Given the description of an element on the screen output the (x, y) to click on. 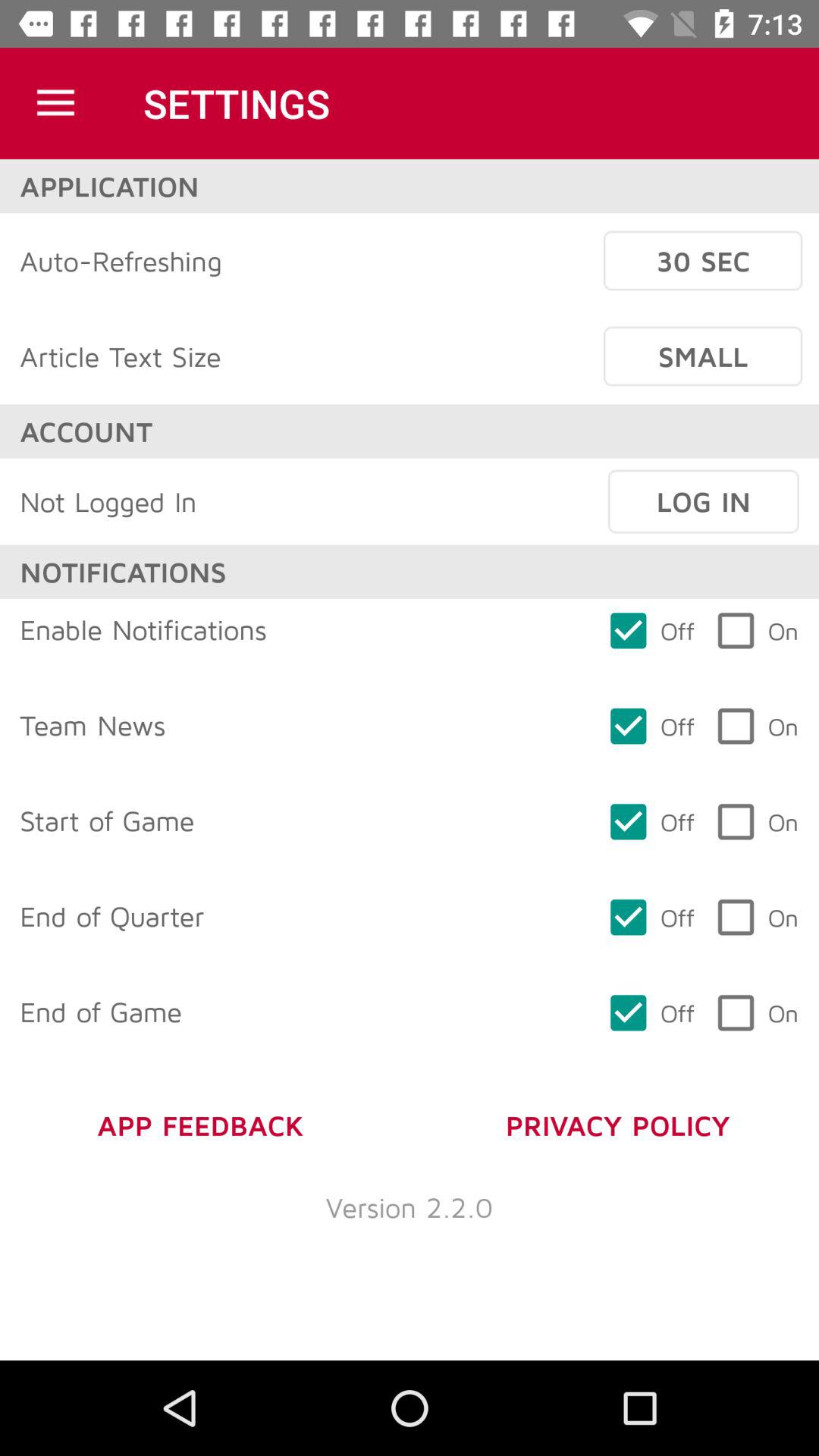
jump to the log in (703, 501)
